Given the description of an element on the screen output the (x, y) to click on. 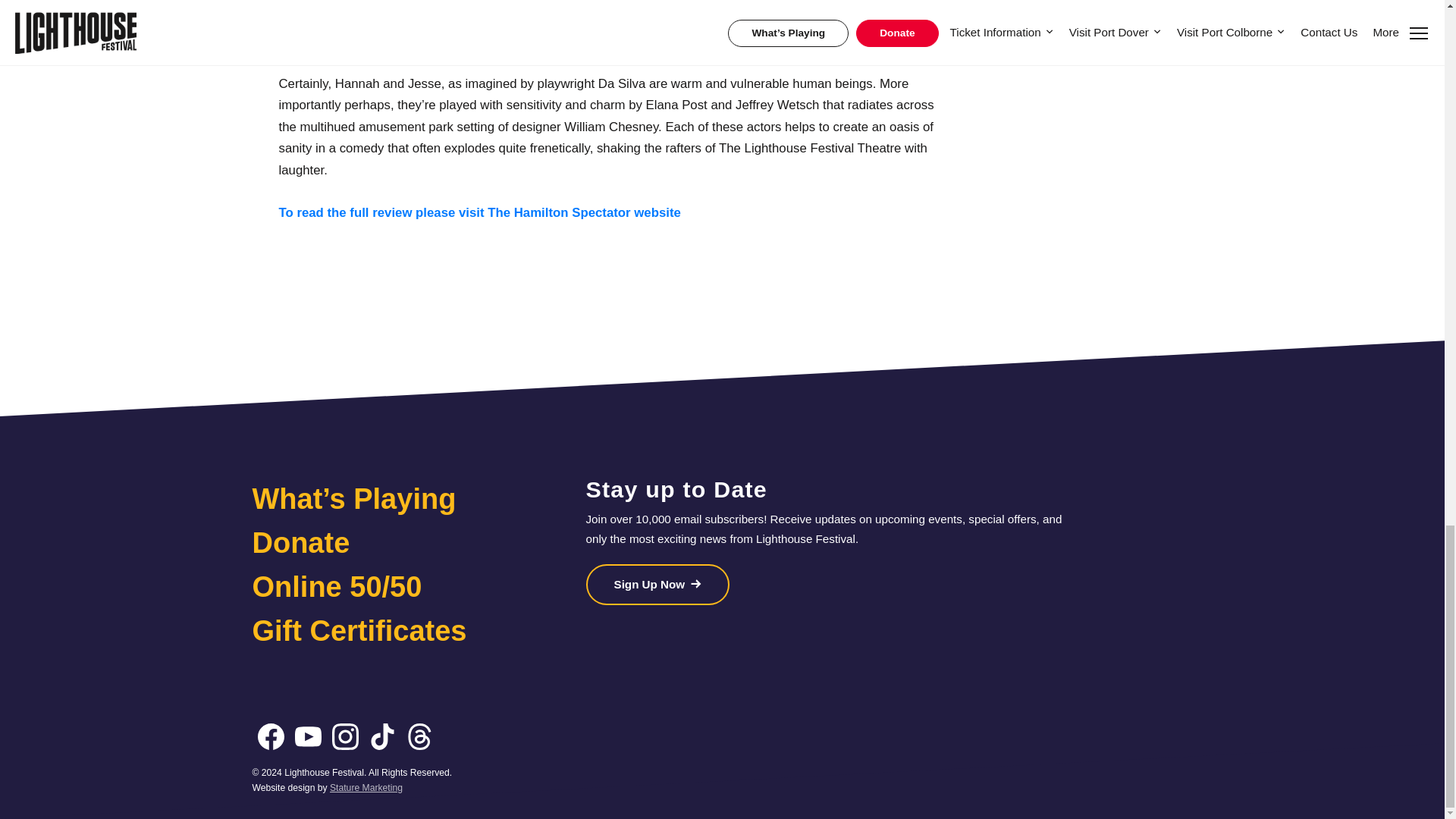
Follow us on Instagram (344, 736)
Follow us on Threads (418, 736)
Follow us on TikTok (381, 736)
Follow us on YouTube (307, 736)
Follow us on Facebook (269, 736)
